Given the description of an element on the screen output the (x, y) to click on. 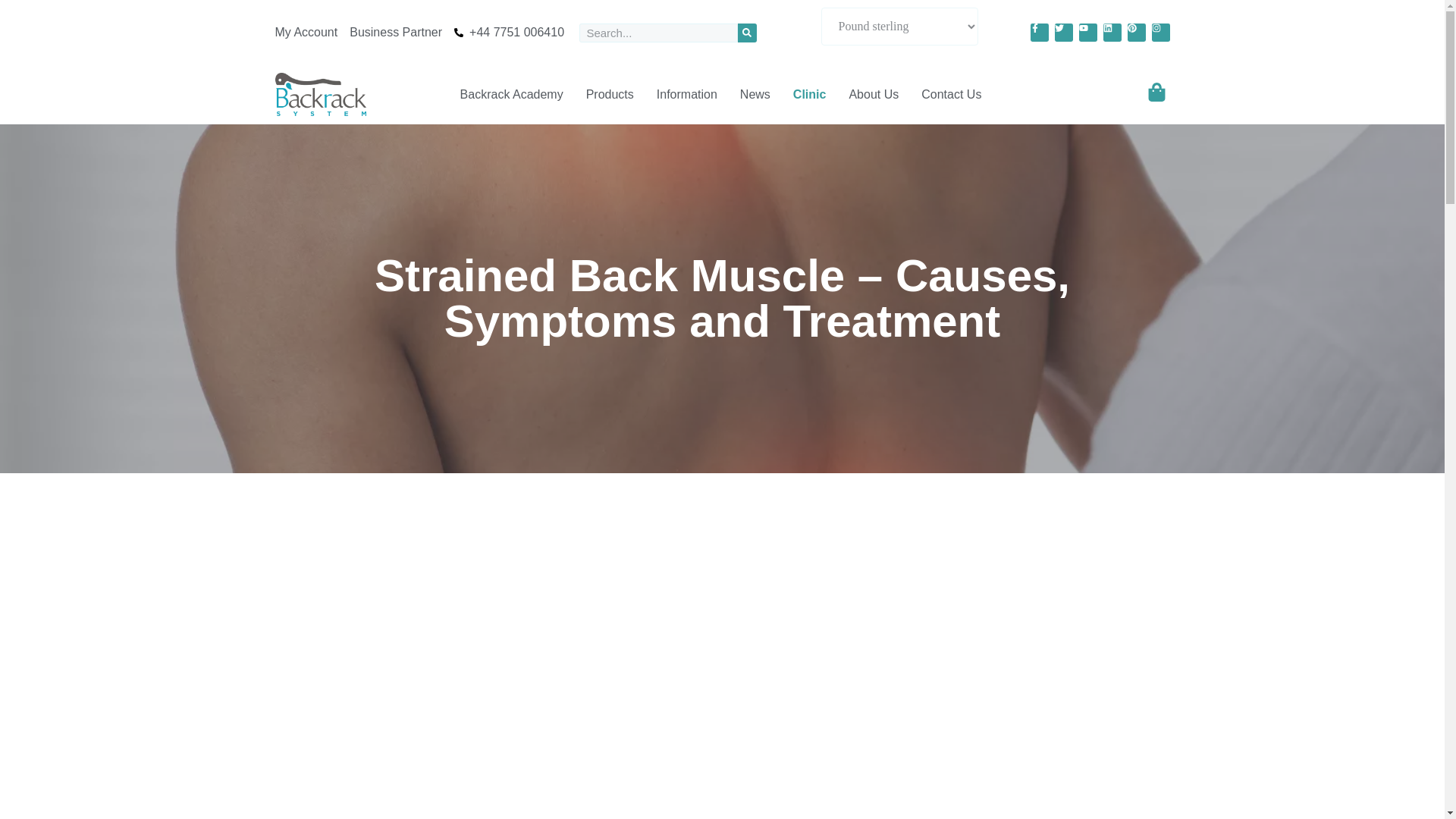
News (755, 94)
Products (610, 94)
Business Partner (395, 32)
My Account (306, 32)
Clinic (809, 94)
Information (687, 94)
Backrack Academy (511, 94)
